Given the description of an element on the screen output the (x, y) to click on. 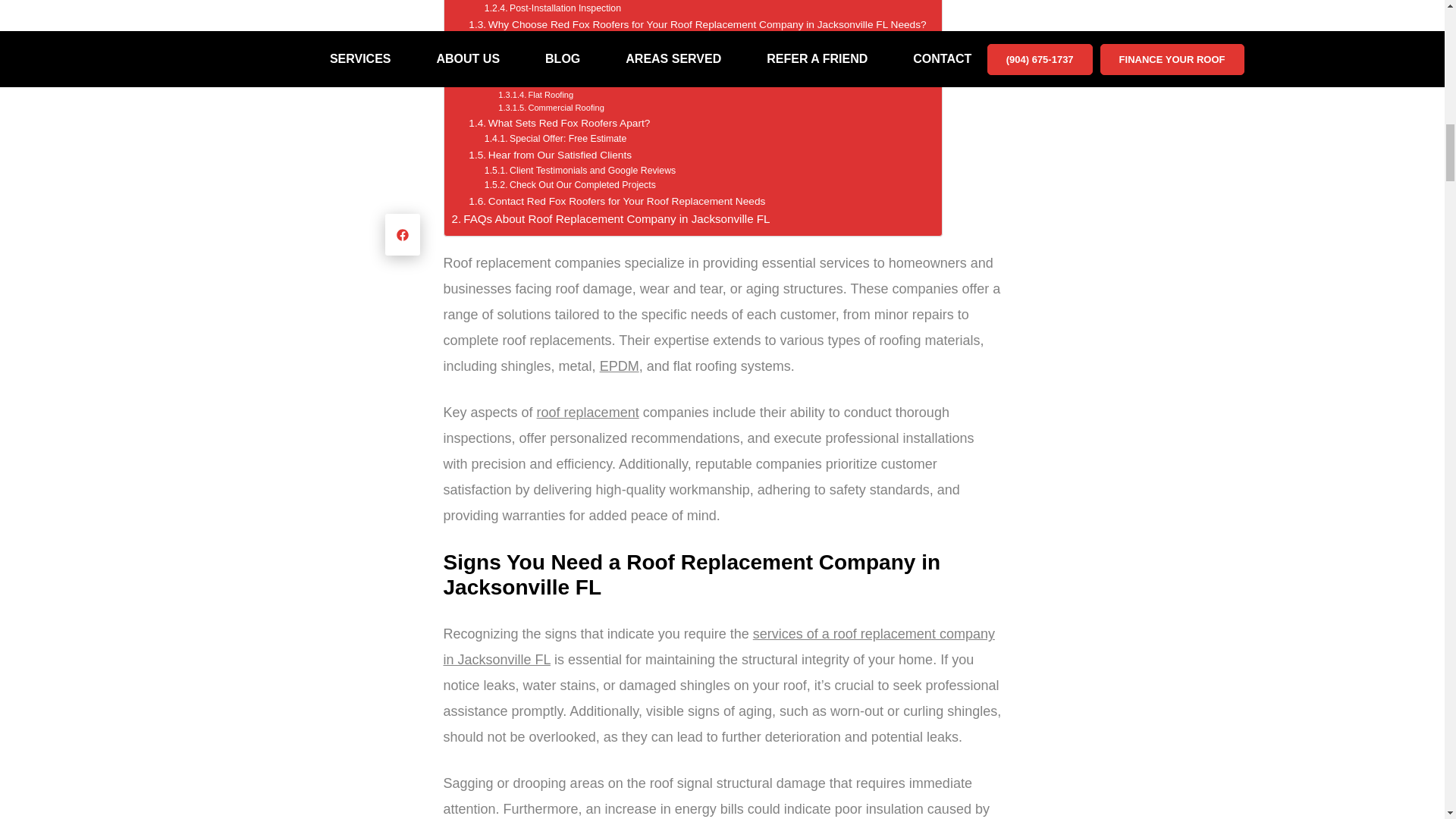
Professional Installation (546, 1)
Post-Installation Inspection (552, 8)
